Given the description of an element on the screen output the (x, y) to click on. 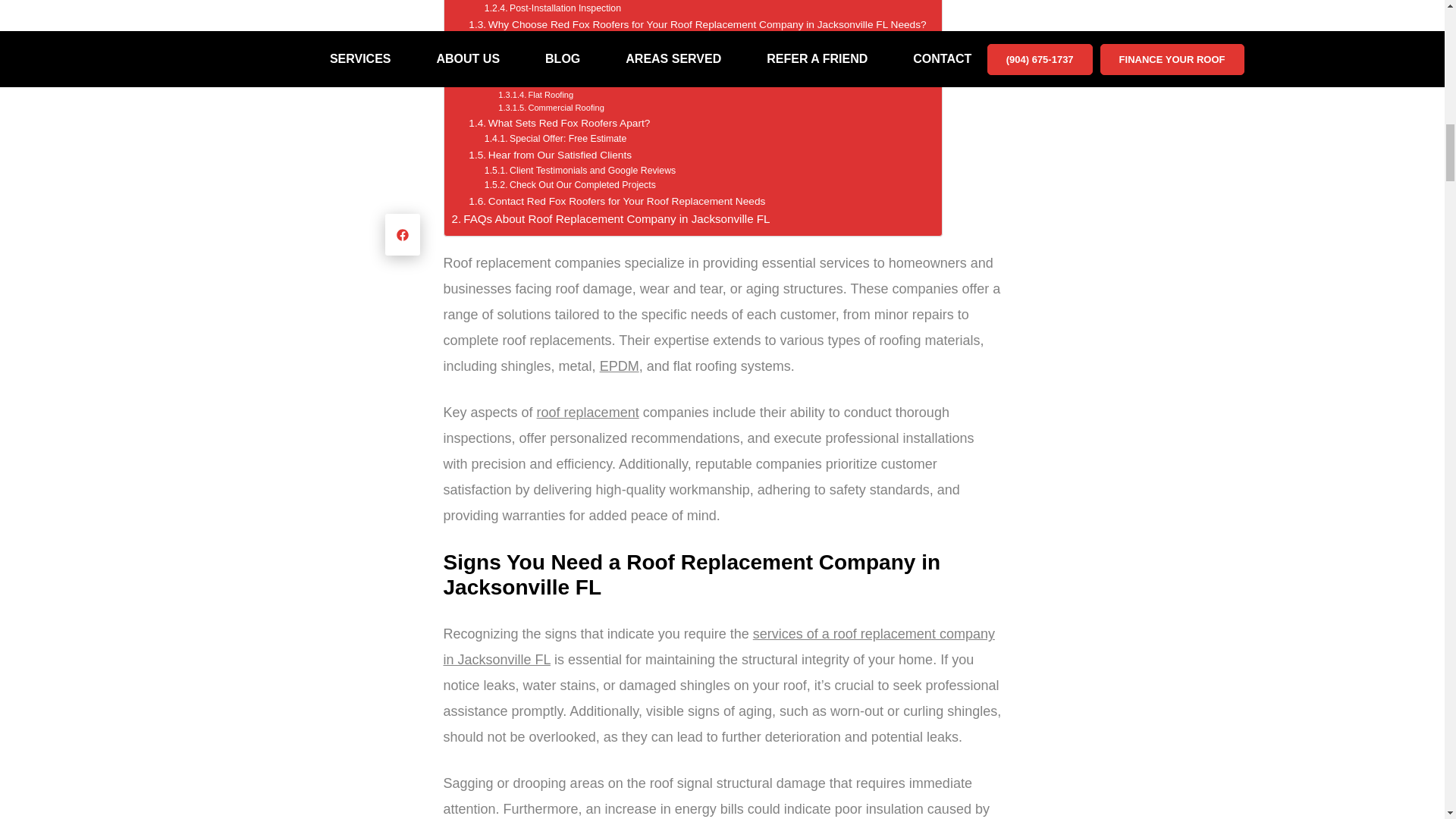
Professional Installation (546, 1)
Post-Installation Inspection (552, 8)
